Given the description of an element on the screen output the (x, y) to click on. 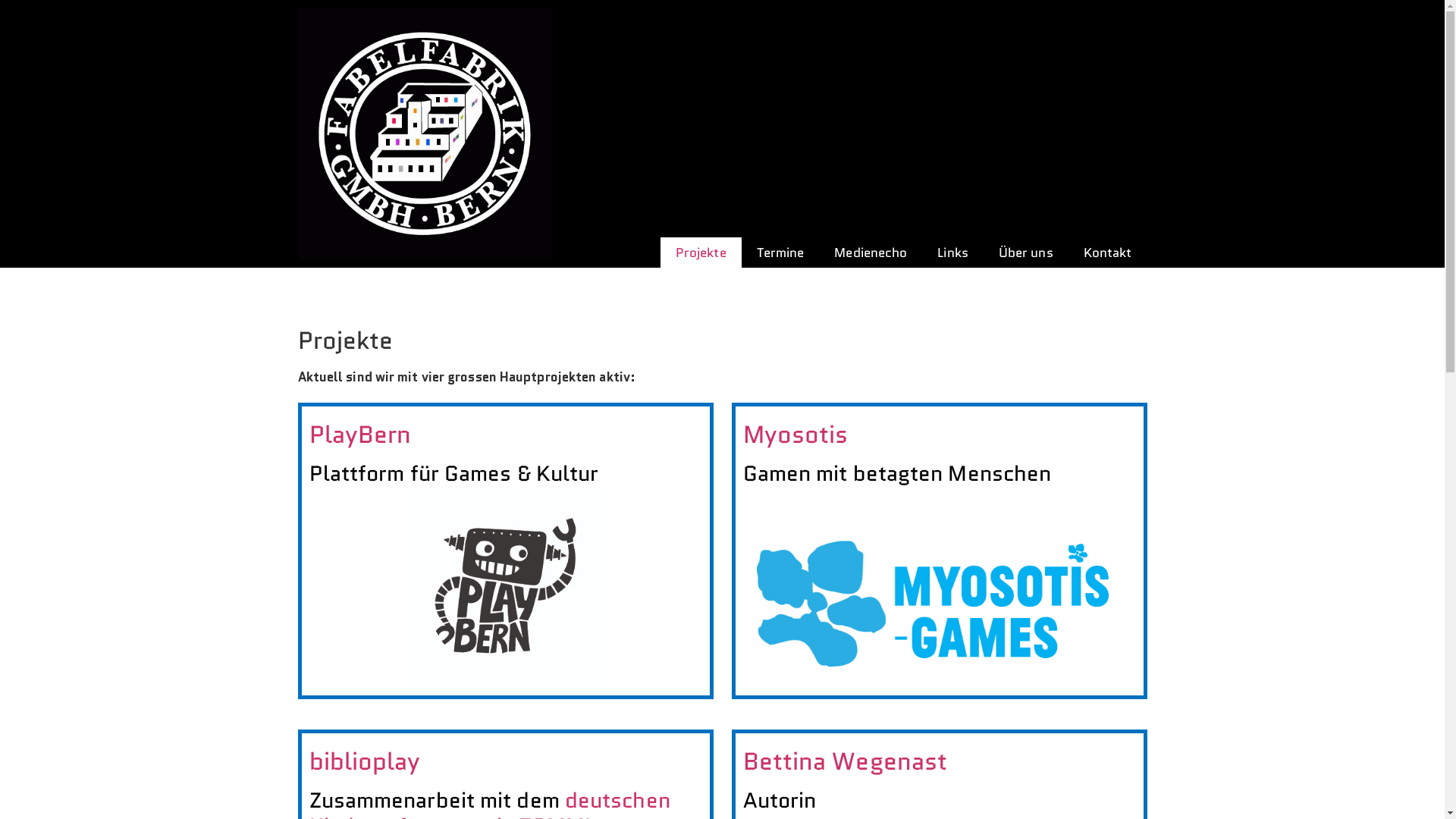
Termine Element type: text (780, 252)
biblioplay Element type: text (364, 760)
Myosotis Element type: text (795, 434)
Medienecho Element type: text (870, 252)
Projekte Element type: text (700, 252)
PlayBern Element type: text (360, 434)
Links Element type: text (952, 252)
Bettina Wegenast Element type: text (845, 760)
Kontakt Element type: text (1107, 252)
